Given the description of an element on the screen output the (x, y) to click on. 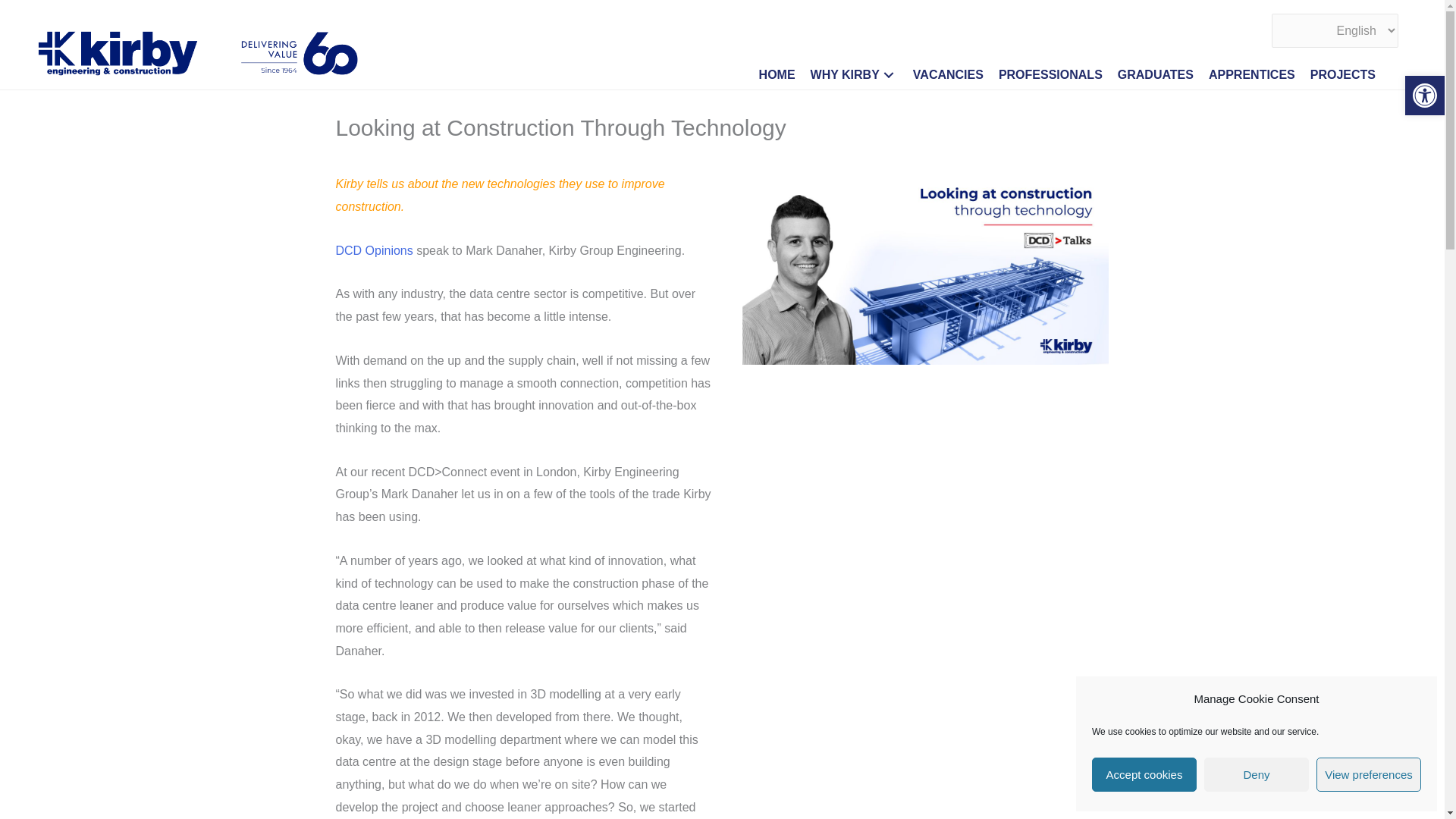
Accessibility Tools (1424, 95)
WHY KIRBY (855, 74)
APPRENTICES (1254, 74)
Deny (1256, 774)
DCD Opinions (373, 250)
DCD-Article-DM-Mark-Danaher (925, 268)
VACANCIES (949, 74)
PROJECTS (1344, 74)
View preferences (1368, 774)
HOME (779, 74)
GRADUATES (1157, 74)
Accept cookies (1144, 774)
PROFESSIONALS (1051, 74)
